Given the description of an element on the screen output the (x, y) to click on. 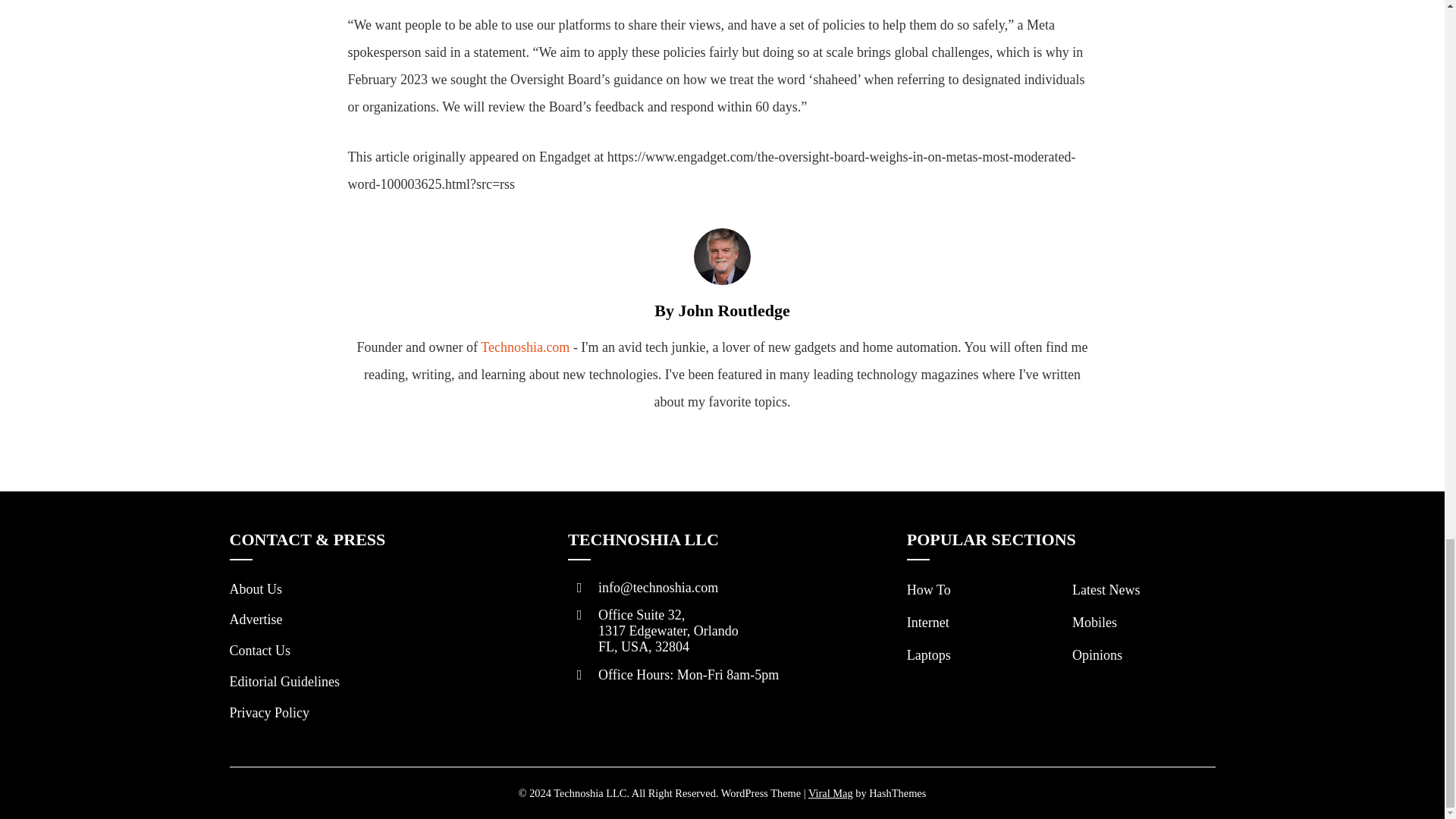
Advertise (255, 619)
Download Viral News (830, 793)
Technoshia.com (524, 346)
About Us (255, 589)
Contact Us (258, 650)
Privacy Policy (268, 712)
Editorial Guidelines (283, 681)
